Given the description of an element on the screen output the (x, y) to click on. 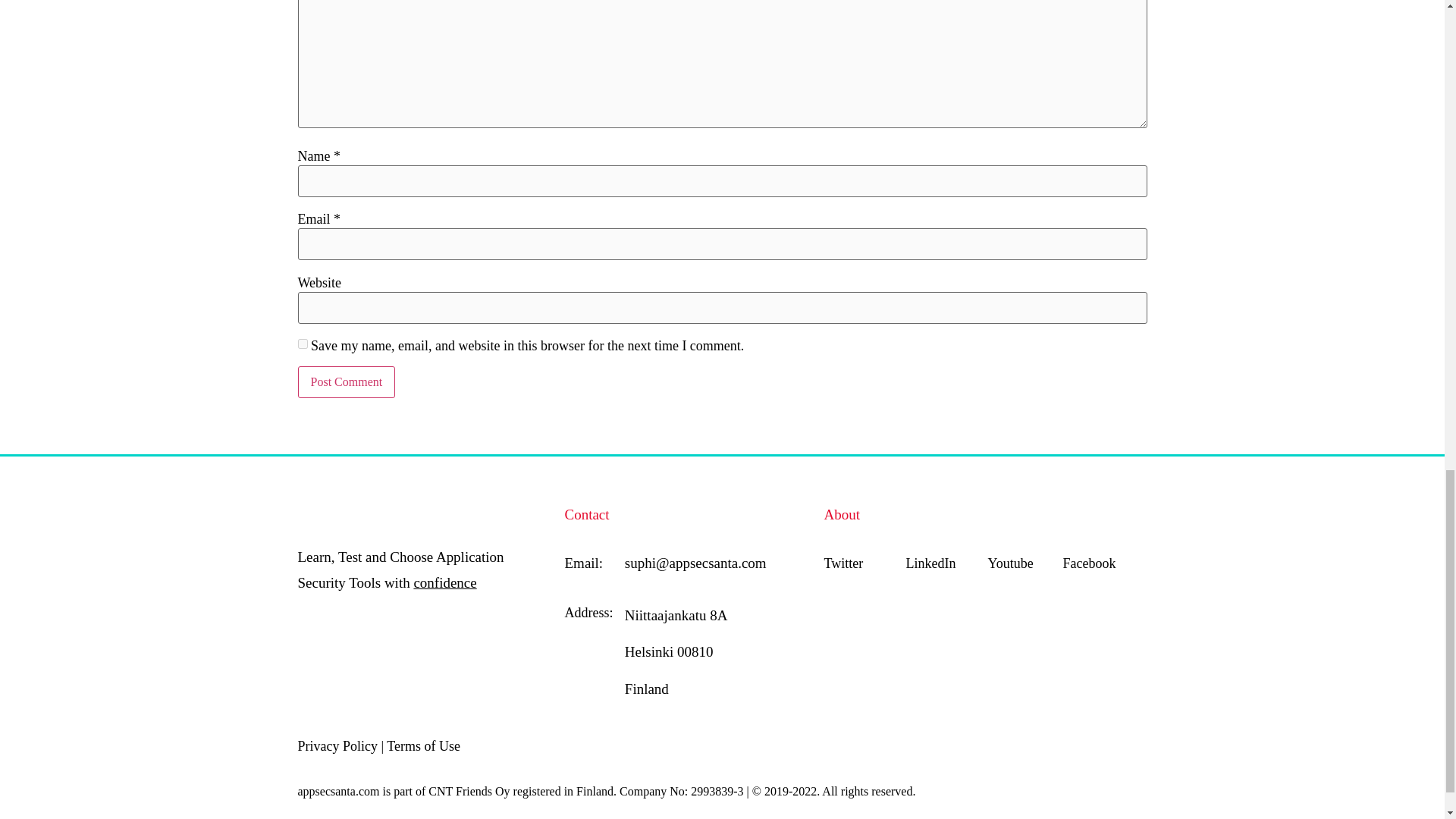
yes (302, 343)
Terms of Use (423, 745)
LinkedIn (930, 563)
Twitter (843, 563)
Privacy Policy (337, 745)
Facebook (1088, 563)
Contact (586, 514)
LinkedIn (930, 563)
Facebook (1088, 563)
Post Comment (345, 382)
Youtube (1010, 563)
Post Comment (345, 382)
Twitter (843, 563)
Youtube (1010, 563)
